Given the description of an element on the screen output the (x, y) to click on. 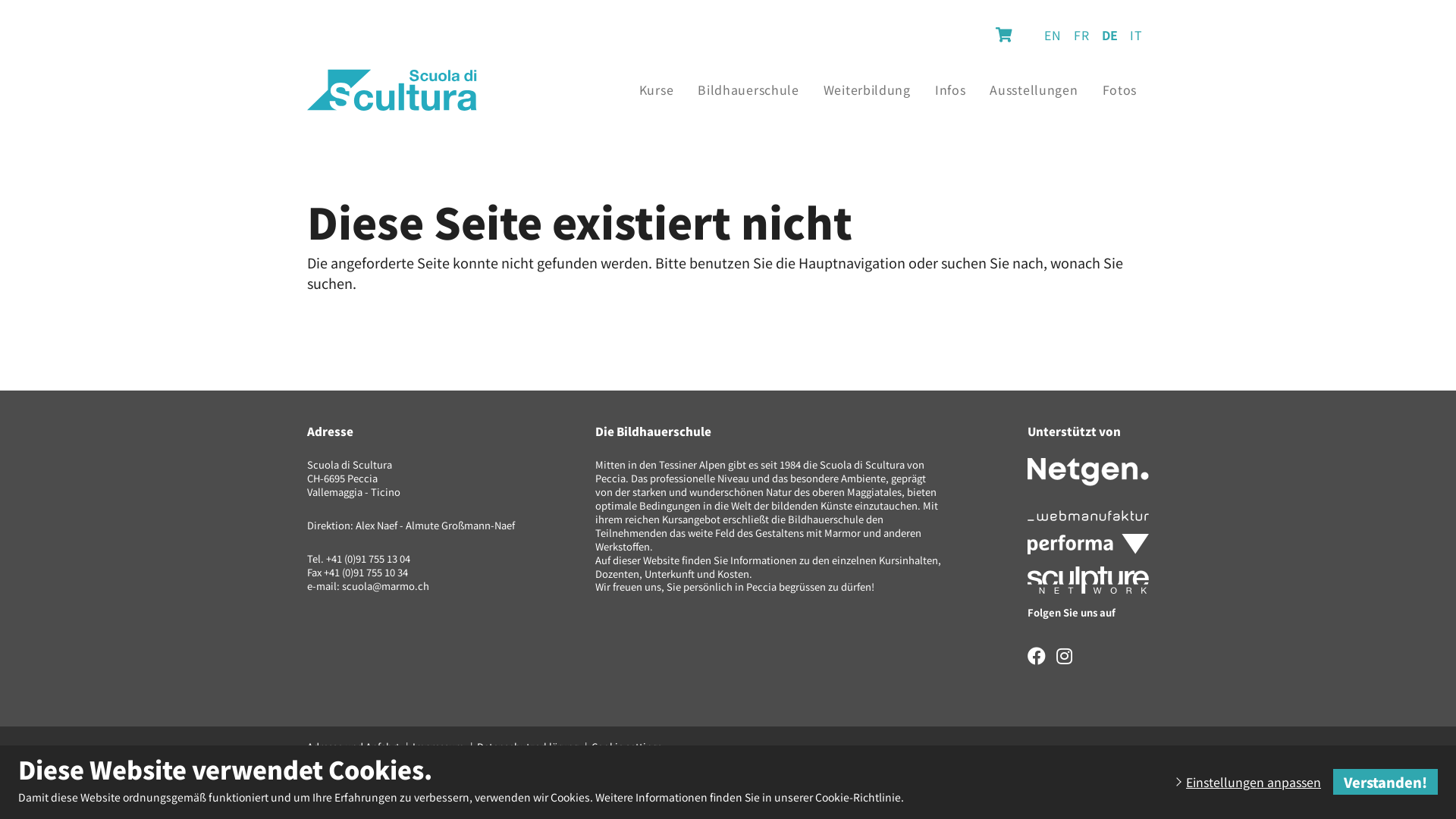
FR Element type: text (1081, 34)
Ausstellungen Element type: text (1033, 89)
Weiterbildung Element type: text (866, 89)
Adresse und Anfahrt Element type: text (353, 746)
Infos Element type: text (950, 89)
+41 (0)91 755 13 04 Element type: text (368, 558)
Verstanden! Element type: text (1385, 781)
scuola@marmo.ch Element type: text (385, 585)
Impressum Element type: text (438, 746)
IT Element type: text (1135, 34)
Fotos Element type: text (1119, 89)
Cookie settings Element type: text (621, 746)
Kurse Element type: text (656, 89)
Search Element type: hover (1003, 33)
Einstellungen anpassen Element type: text (1247, 781)
Scuola di Scultura Element type: hover (391, 89)
EN Element type: text (1052, 34)
Bildhauerschule Element type: text (748, 89)
